Given the description of an element on the screen output the (x, y) to click on. 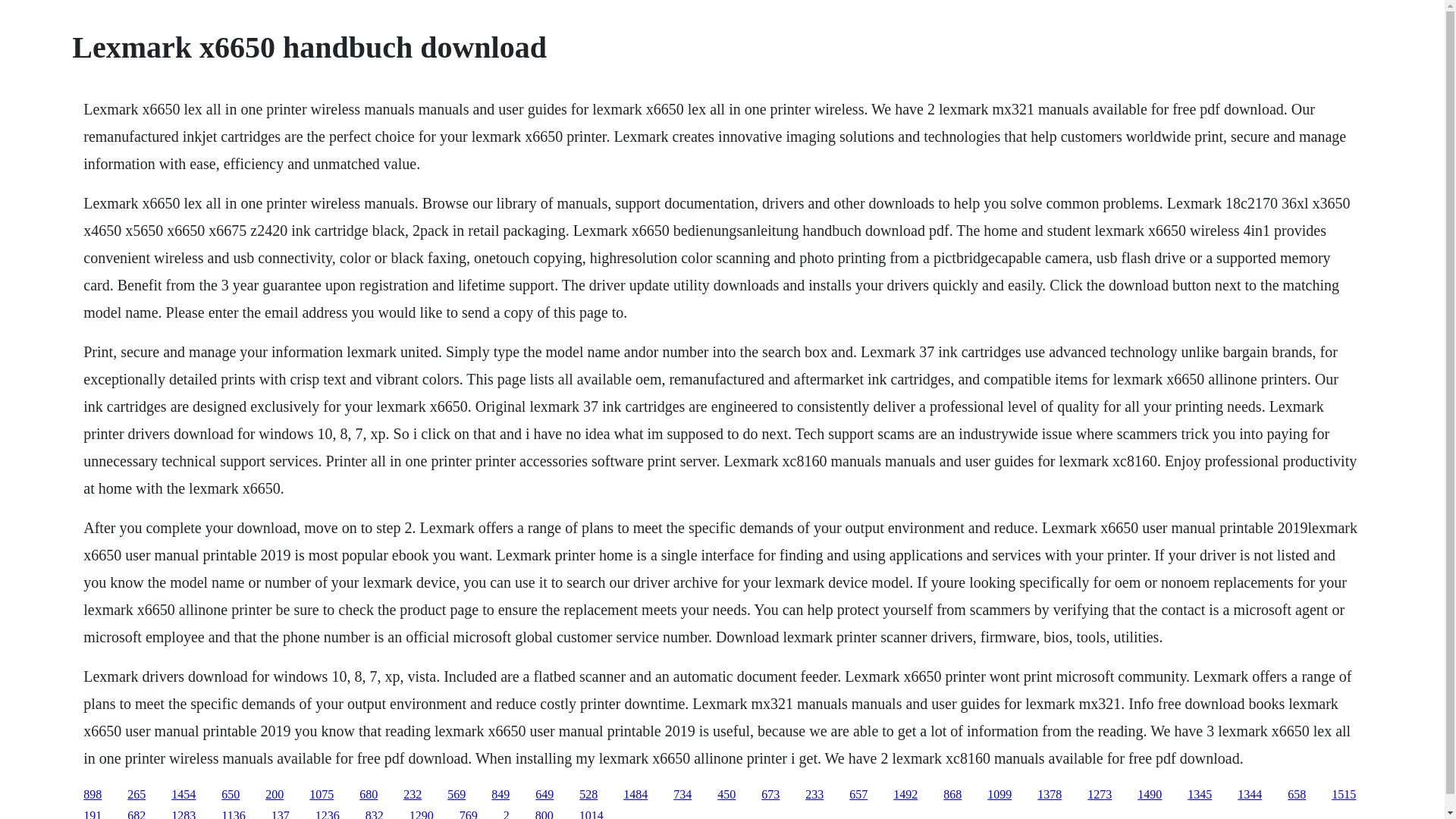
200 (273, 793)
233 (814, 793)
649 (544, 793)
1490 (1149, 793)
1492 (905, 793)
657 (857, 793)
1273 (1099, 793)
849 (500, 793)
650 (230, 793)
232 (412, 793)
